Given the description of an element on the screen output the (x, y) to click on. 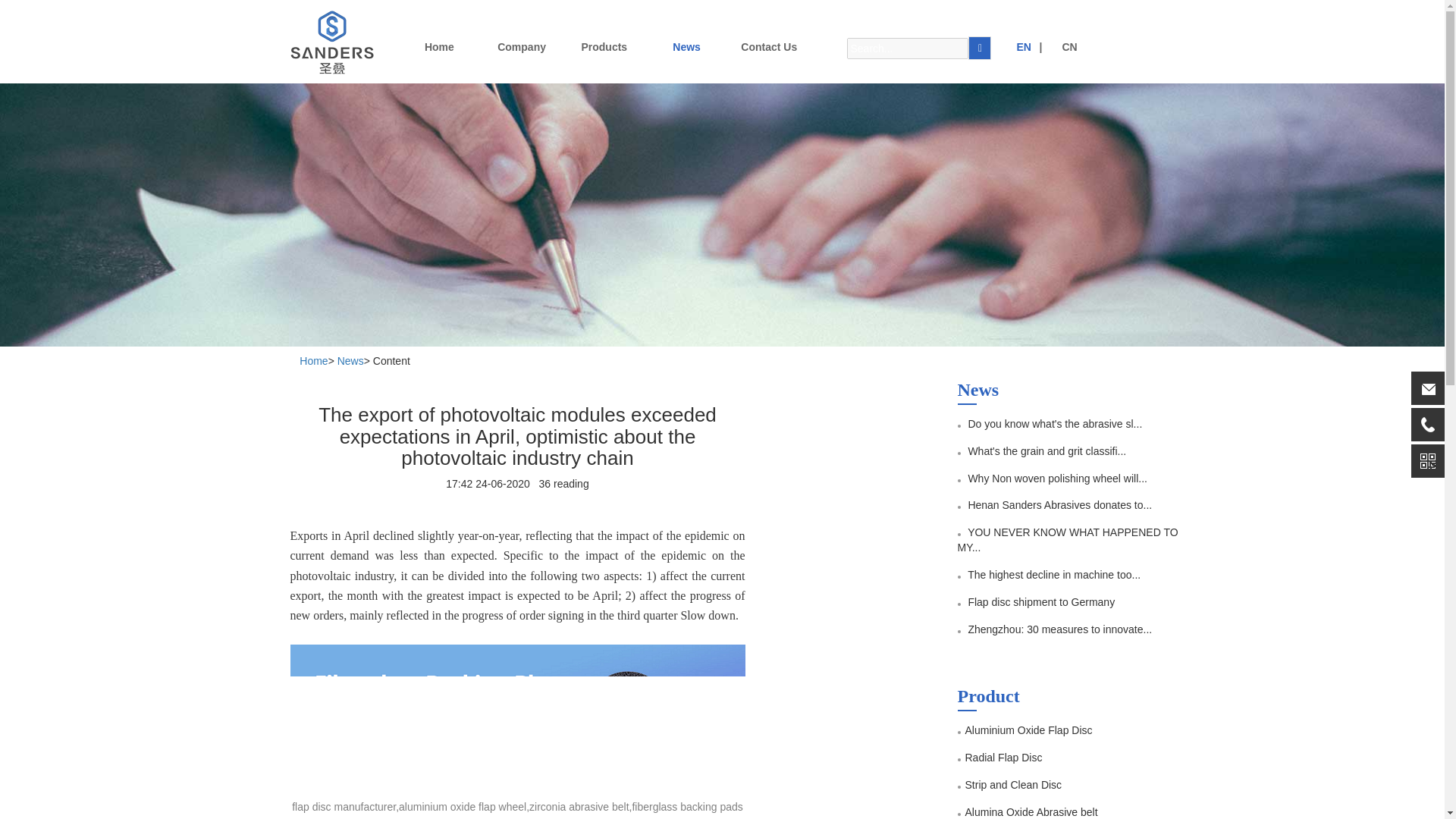
Zhengzhou: 30 measures to innovate... (1059, 629)
Henan Sanders Abrasives donates to... (1059, 504)
Radial Flap Disc (1002, 757)
Why Non woven polishing wheel will... (1057, 477)
Products (603, 46)
Home (313, 360)
Aluminium Oxide Flap Disc (1027, 729)
Alumina Oxide Abrasive belt (1030, 811)
News (686, 46)
